Given the description of an element on the screen output the (x, y) to click on. 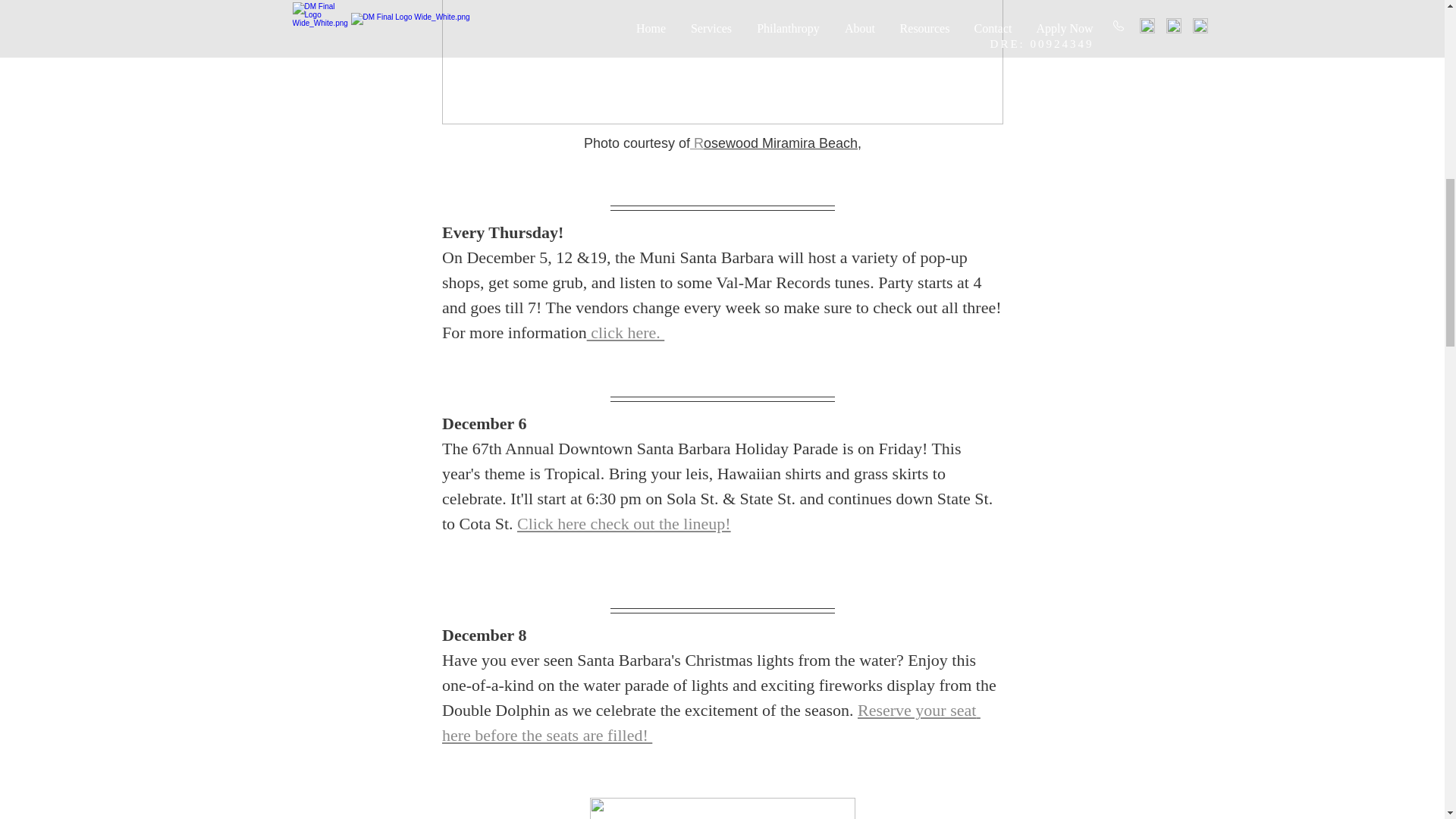
 click here.  (624, 332)
Click here check out the lineup! (623, 523)
Reserve your seat here before the seats are filled!  (710, 722)
